Given the description of an element on the screen output the (x, y) to click on. 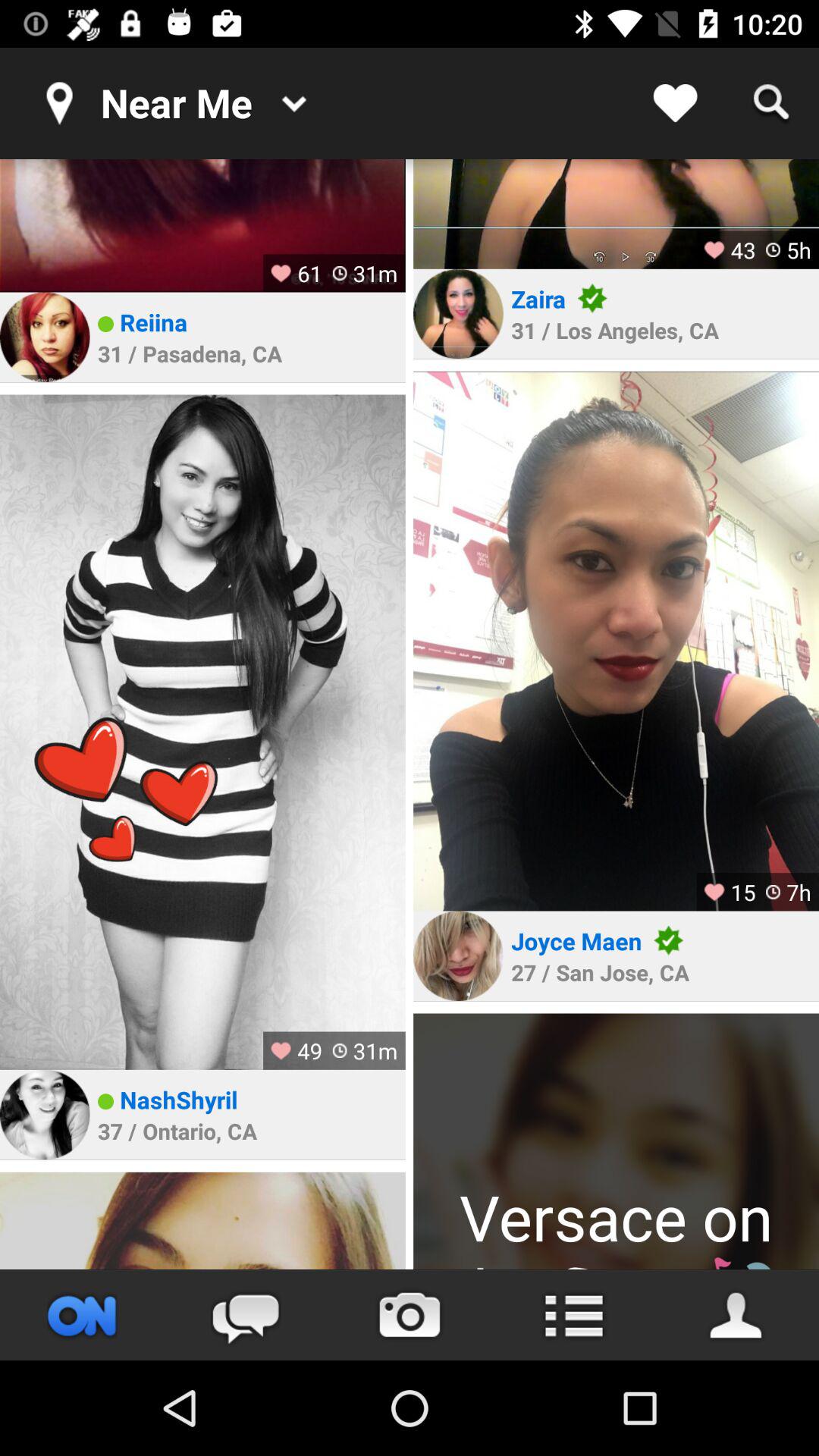
select user profile (202, 731)
